Given the description of an element on the screen output the (x, y) to click on. 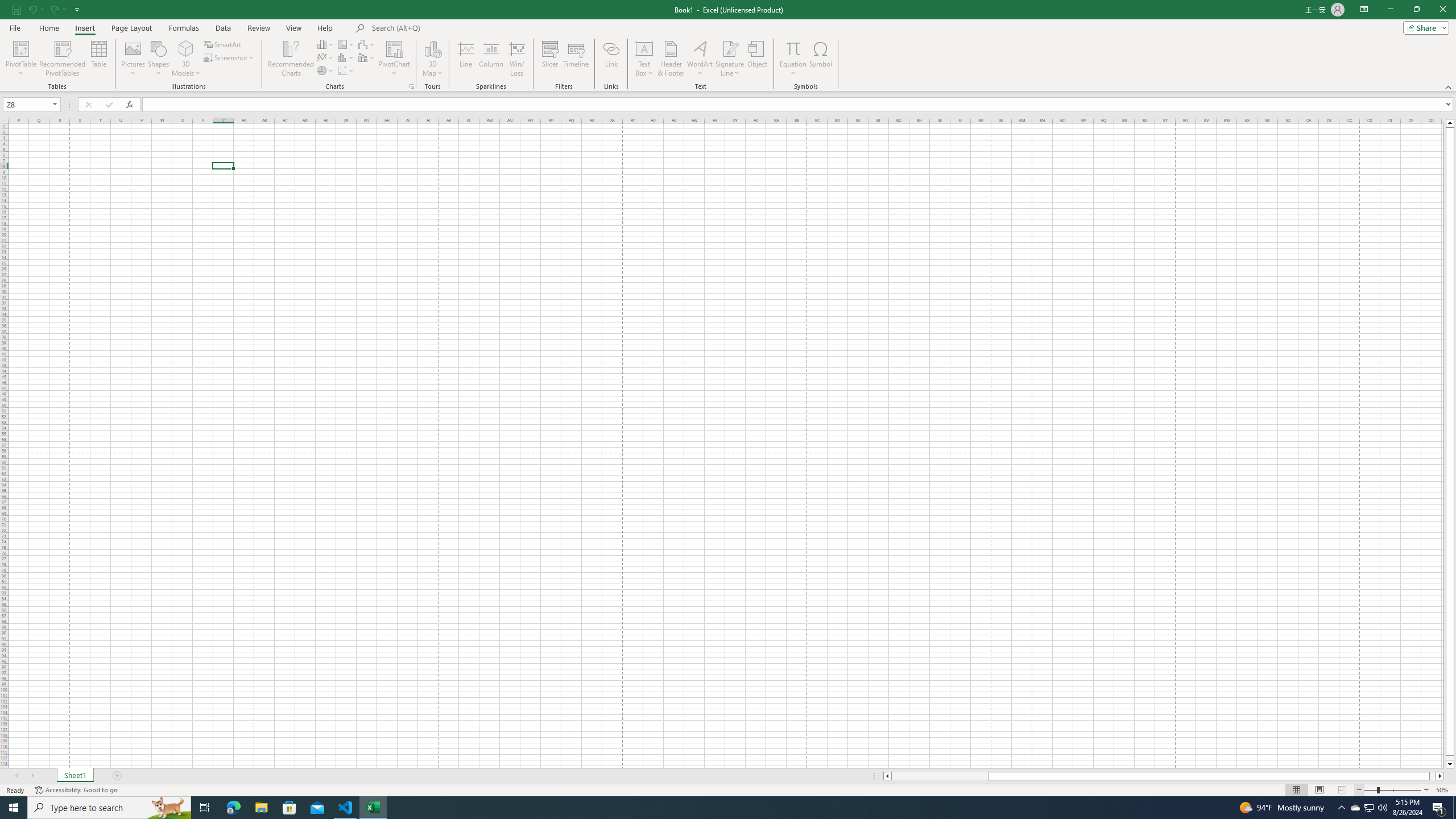
3D Models (186, 58)
Link (611, 58)
Insert Line or Area Chart (325, 56)
Column (491, 58)
Text Box (643, 58)
Timeline (575, 58)
Pictures (133, 58)
